Given the description of an element on the screen output the (x, y) to click on. 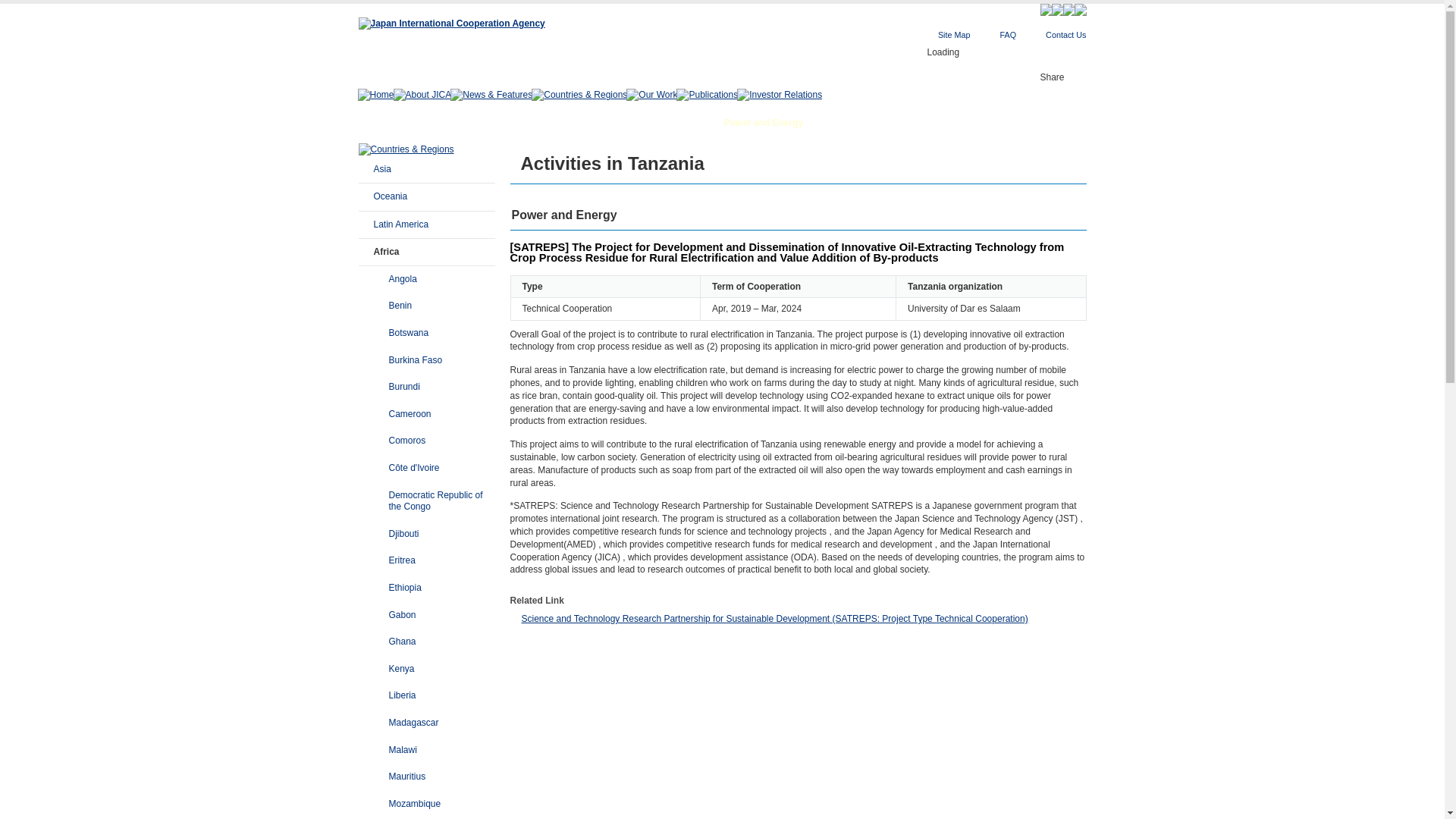
medium (889, 55)
Site Map (954, 34)
large (910, 55)
Tanzania (578, 122)
small (868, 55)
FAQ (1007, 34)
Contact Us (1065, 34)
Asia (427, 169)
Activities in Tanzania (659, 122)
Africa (427, 252)
